Given the description of an element on the screen output the (x, y) to click on. 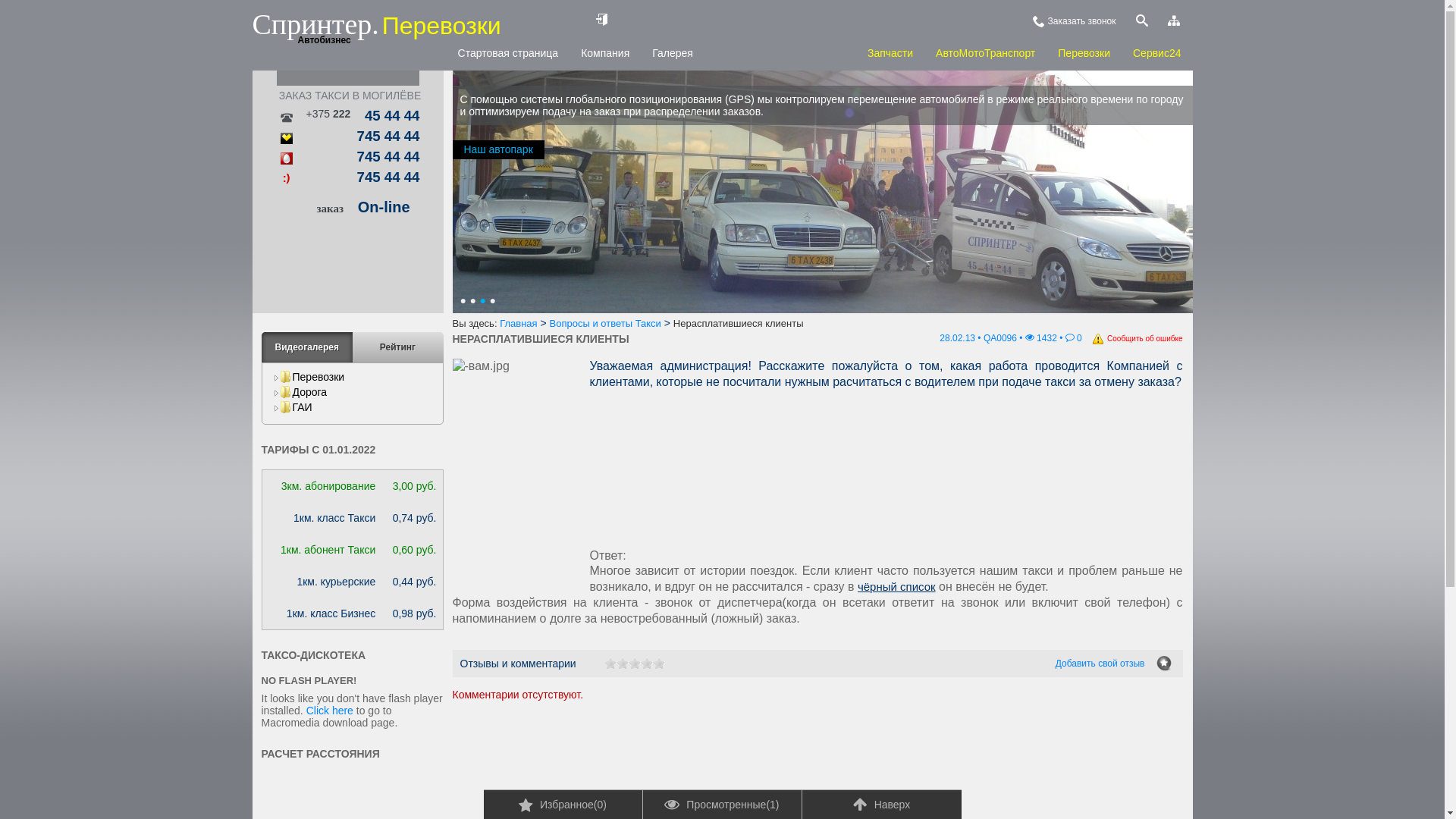
On-line Element type: text (383, 206)
Click here Element type: text (329, 710)
